Given the description of an element on the screen output the (x, y) to click on. 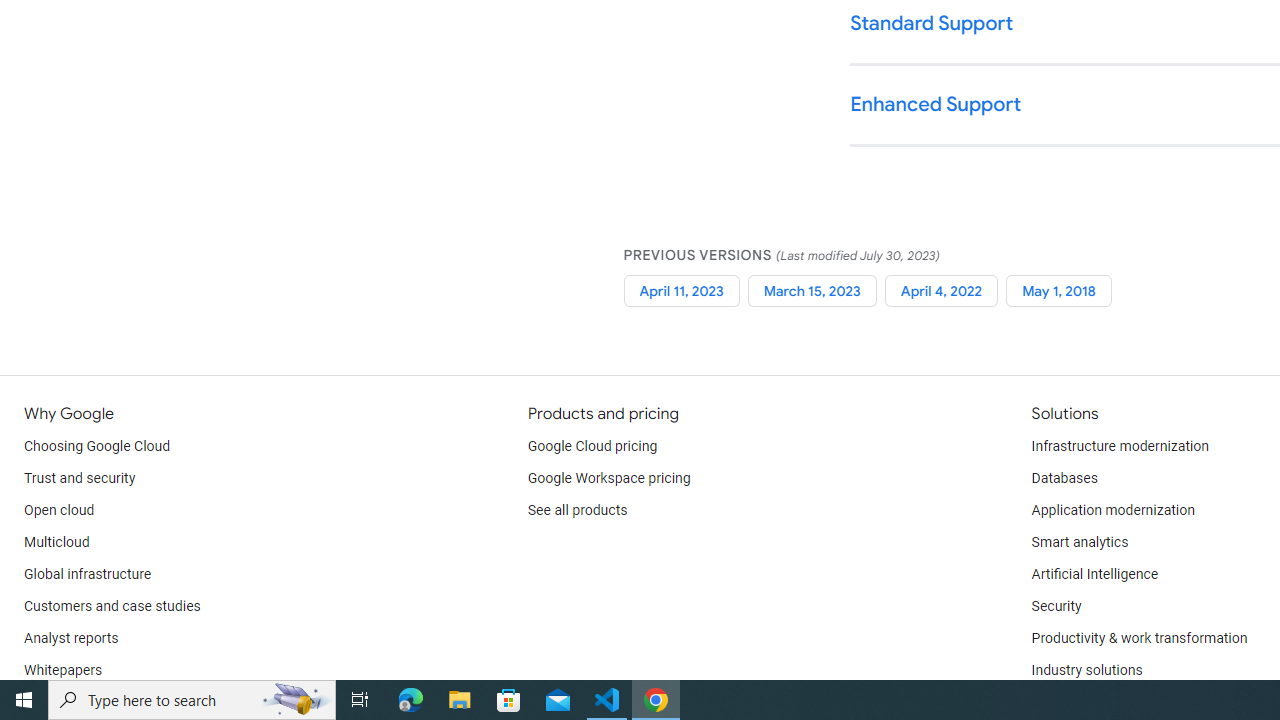
Customers and case studies (112, 606)
Databases (1064, 478)
Google Workspace pricing (609, 478)
Artificial Intelligence (1094, 574)
April 11, 2023 (681, 290)
Application modernization (1112, 511)
Choosing Google Cloud (97, 446)
Security (1055, 606)
